Given the description of an element on the screen output the (x, y) to click on. 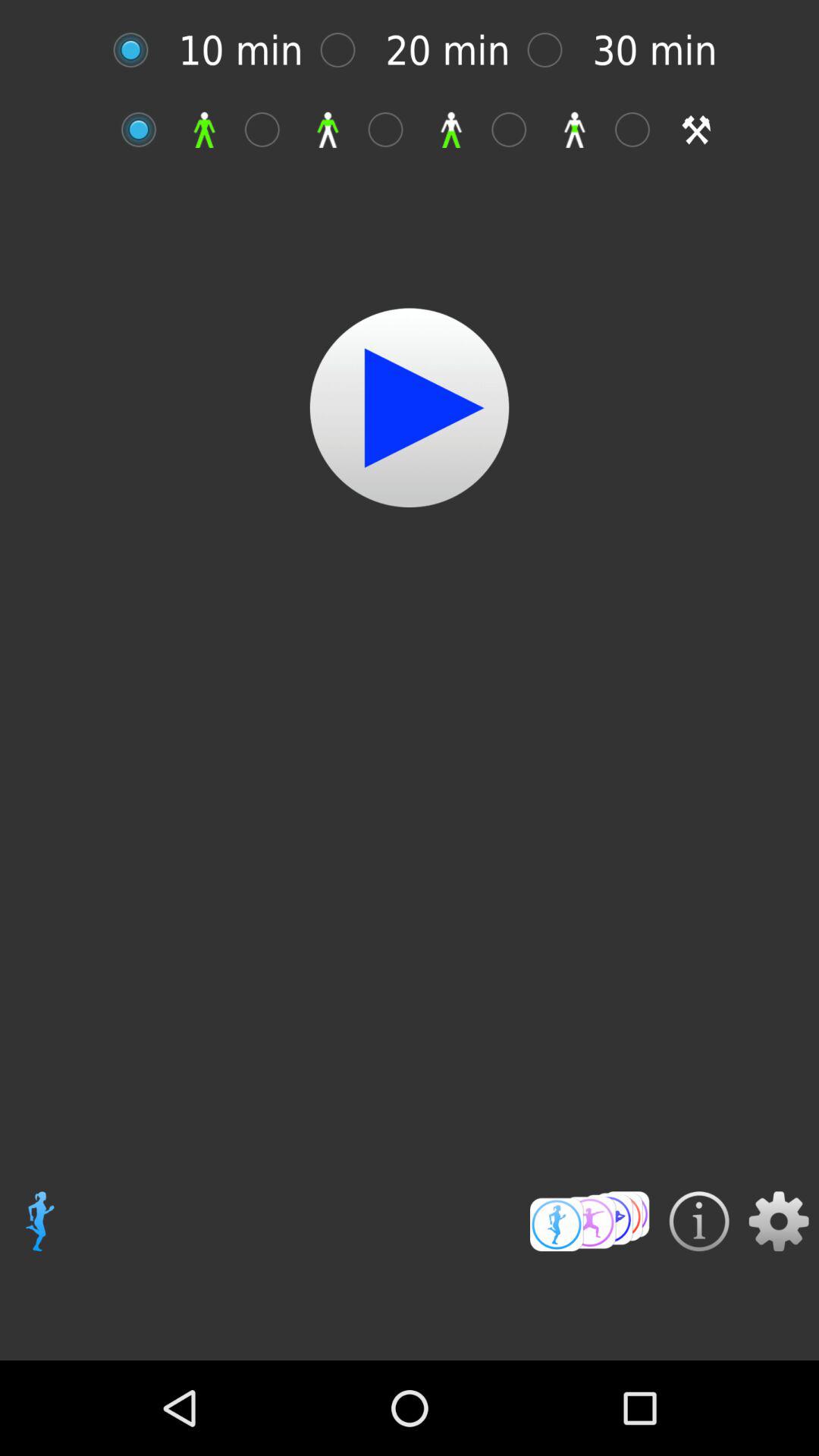
choose 5th option (640, 129)
